Given the description of an element on the screen output the (x, y) to click on. 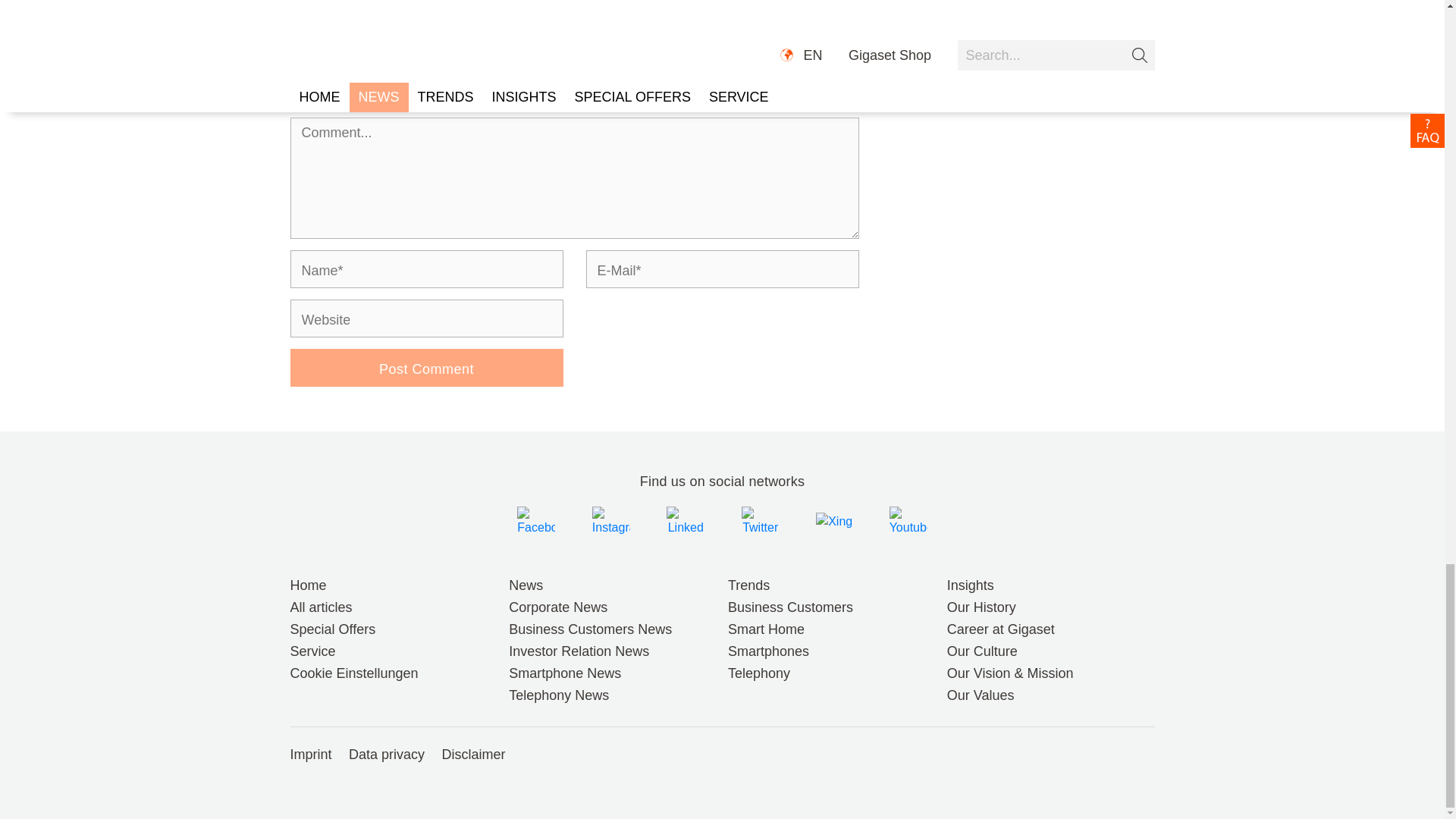
Post Comment (425, 367)
